Given the description of an element on the screen output the (x, y) to click on. 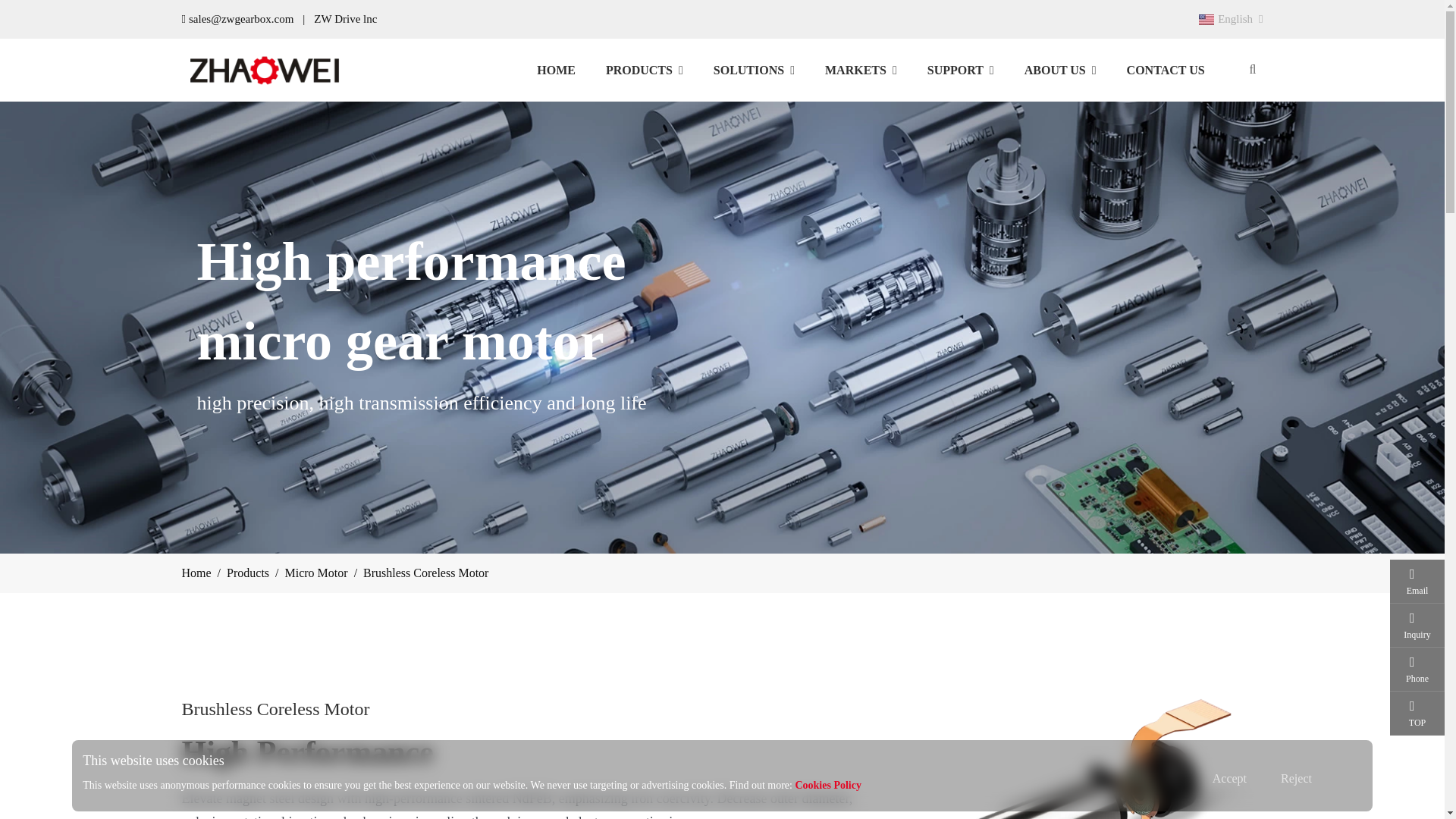
HOME (870, 69)
SOLUTIONS (556, 69)
English (753, 69)
PRODUCTS (1230, 19)
